Given the description of an element on the screen output the (x, y) to click on. 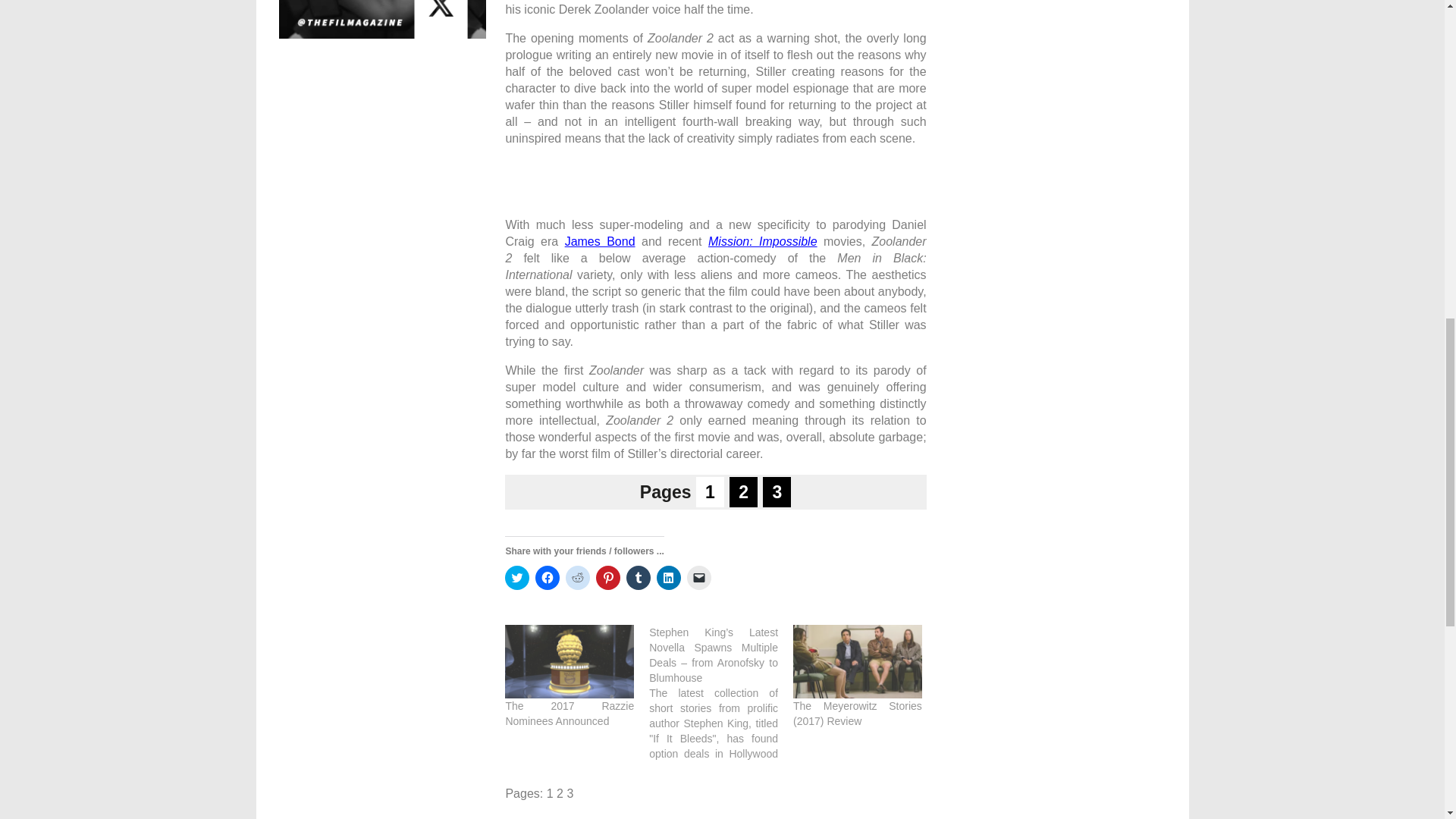
Click to email a link to a friend (699, 577)
Click to share on LinkedIn (668, 577)
Click to share on Twitter (517, 577)
The 2017 Razzie Nominees Announced (569, 661)
Click to share on Facebook (547, 577)
The 2017 Razzie Nominees Announced (569, 713)
Click to share on Pinterest (607, 577)
Click to share on Tumblr (638, 577)
Click to share on Reddit (577, 577)
